Given the description of an element on the screen output the (x, y) to click on. 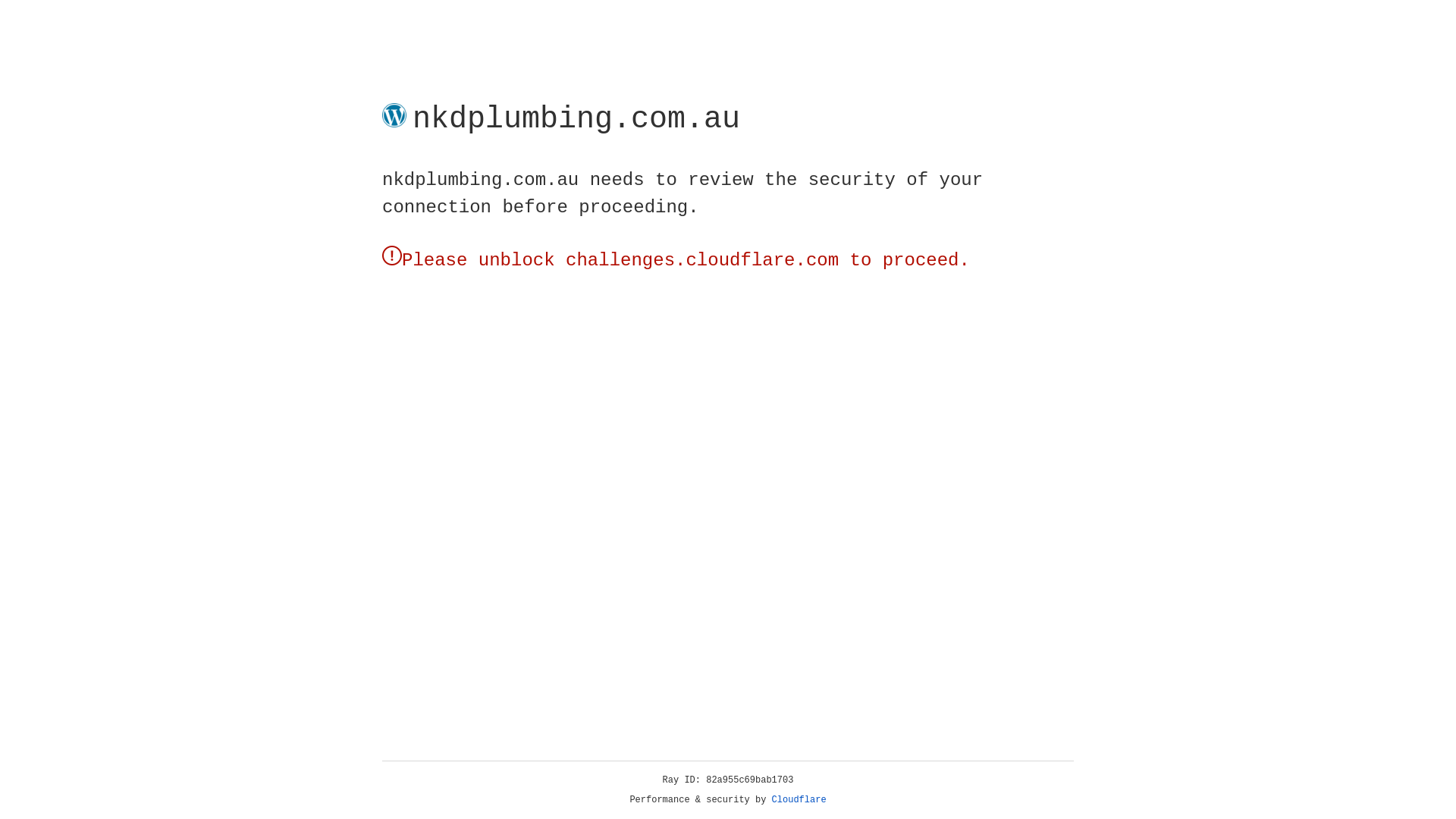
Cloudflare Element type: text (798, 799)
